Given the description of an element on the screen output the (x, y) to click on. 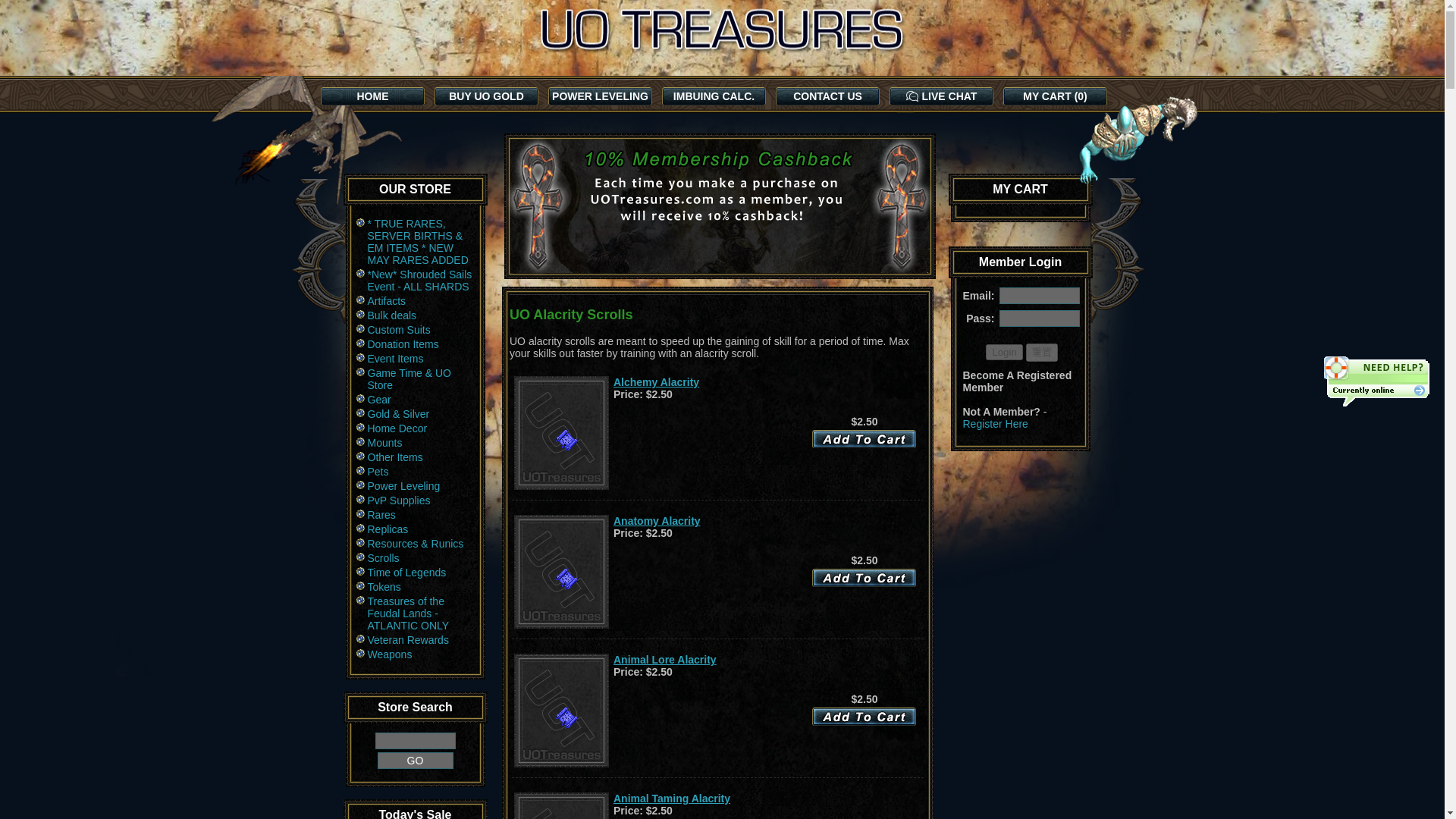
Rares (416, 515)
Donation Items (416, 345)
Login (1004, 351)
Treasures of the Feudal Lands - ATLANTIC ONLY (416, 614)
Bulk deals (416, 316)
Tokens (416, 587)
PvP Supplies (416, 501)
Weapons (416, 655)
Home Decor (416, 429)
Pets (416, 472)
LIVE CHAT (940, 96)
Event Items (416, 359)
Custom Suits (416, 330)
Power Leveling (416, 486)
Artifacts (416, 301)
